Given the description of an element on the screen output the (x, y) to click on. 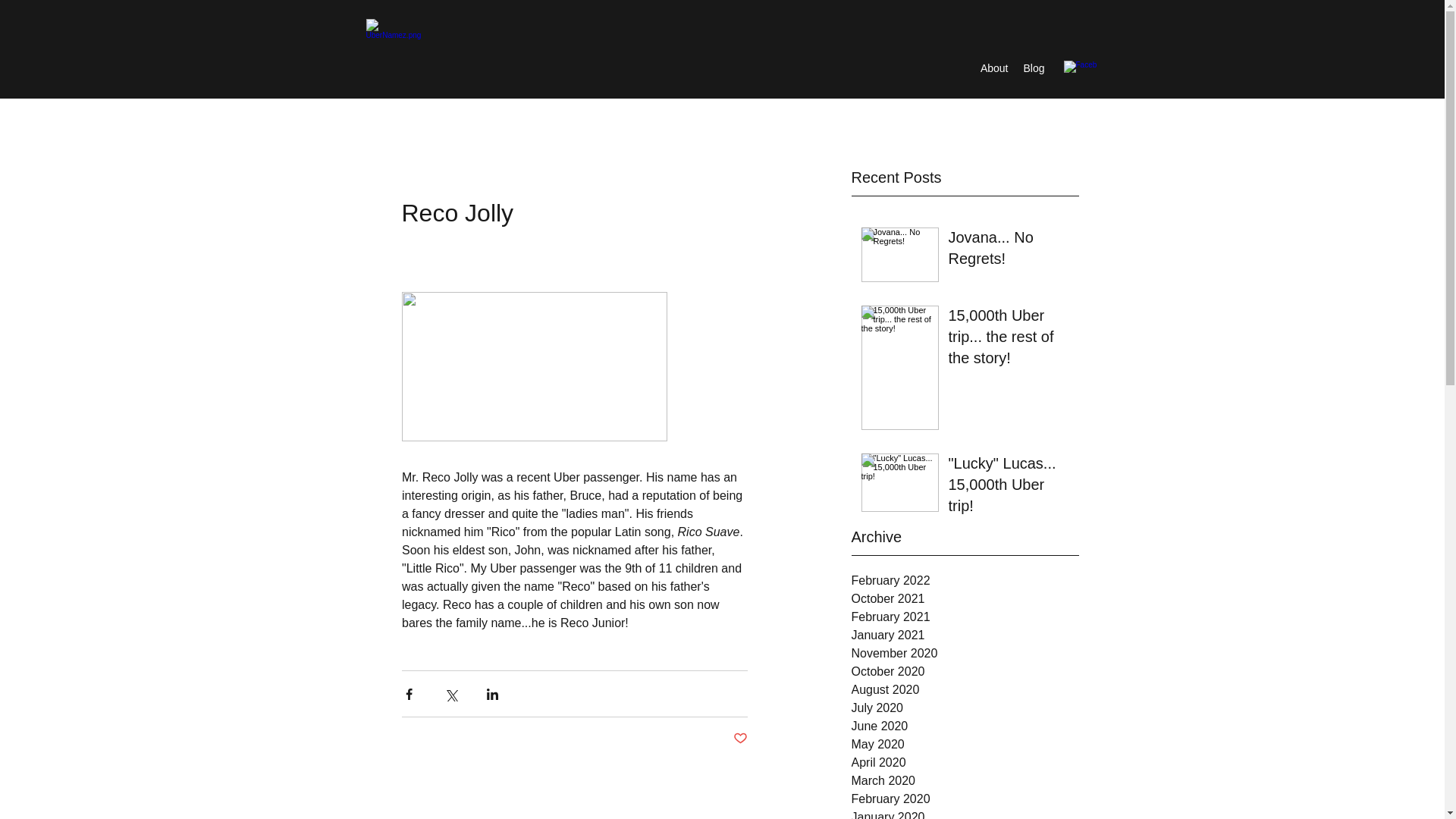
Blog (1034, 67)
June 2020 (964, 726)
Jovana... No Regrets! (1007, 250)
About (993, 67)
February 2022 (964, 580)
November 2020 (964, 653)
April 2020 (964, 762)
January 2020 (964, 813)
February 2020 (964, 799)
March 2020 (964, 781)
August 2020 (964, 689)
May 2020 (964, 744)
February 2021 (964, 617)
15,000th Uber trip... the rest of the story! (1007, 339)
"Lucky" Lucas... 15,000th Uber trip! (1007, 487)
